Given the description of an element on the screen output the (x, y) to click on. 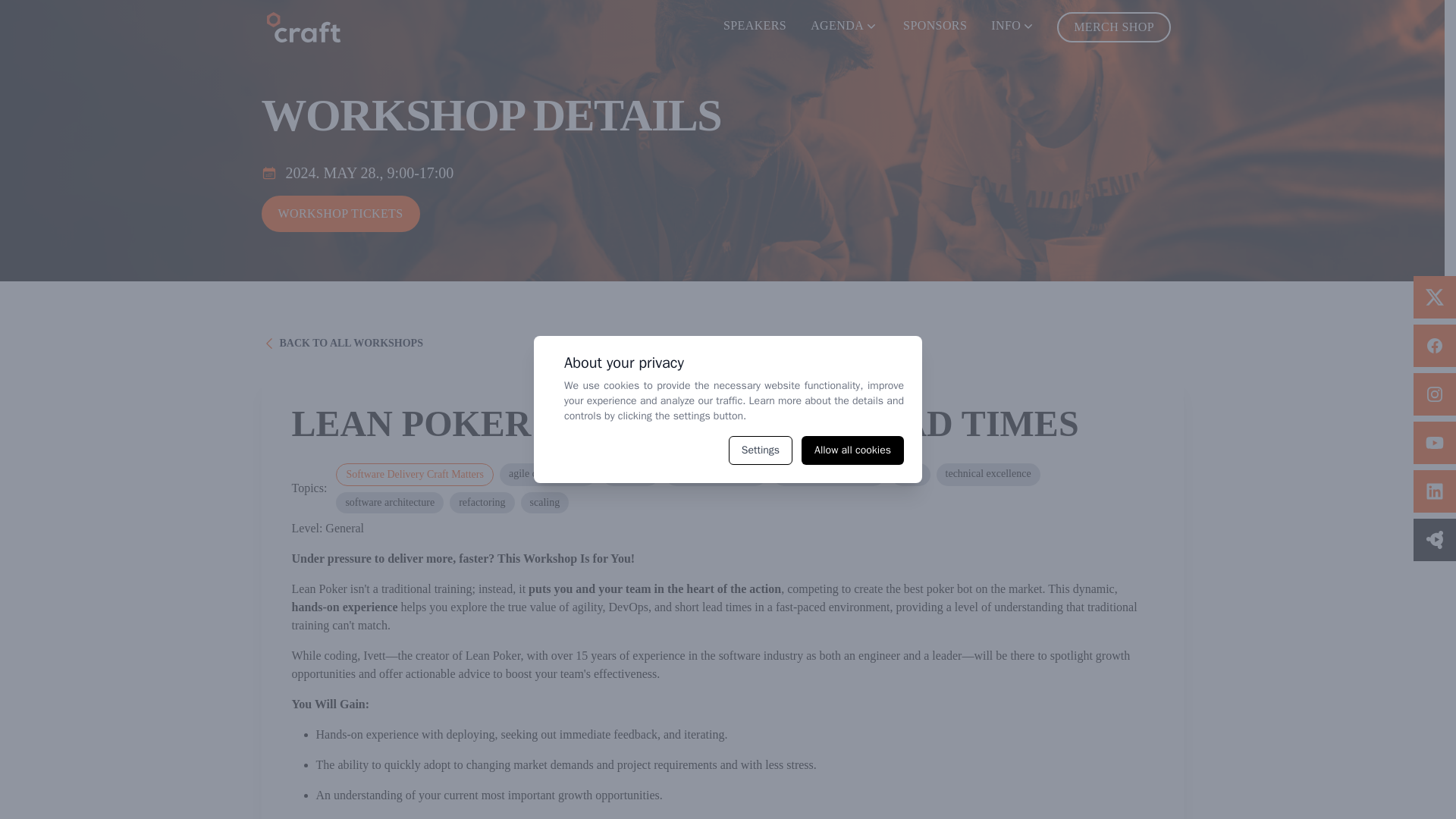
INFO (1013, 25)
BACK TO ALL WORKSHOPS (341, 341)
MERCH SHOP (1113, 27)
AGENDA (845, 25)
WORKSHOP TICKETS (339, 213)
Allow all cookies (853, 450)
SPEAKERS (754, 25)
SPONSORS (934, 25)
